Given the description of an element on the screen output the (x, y) to click on. 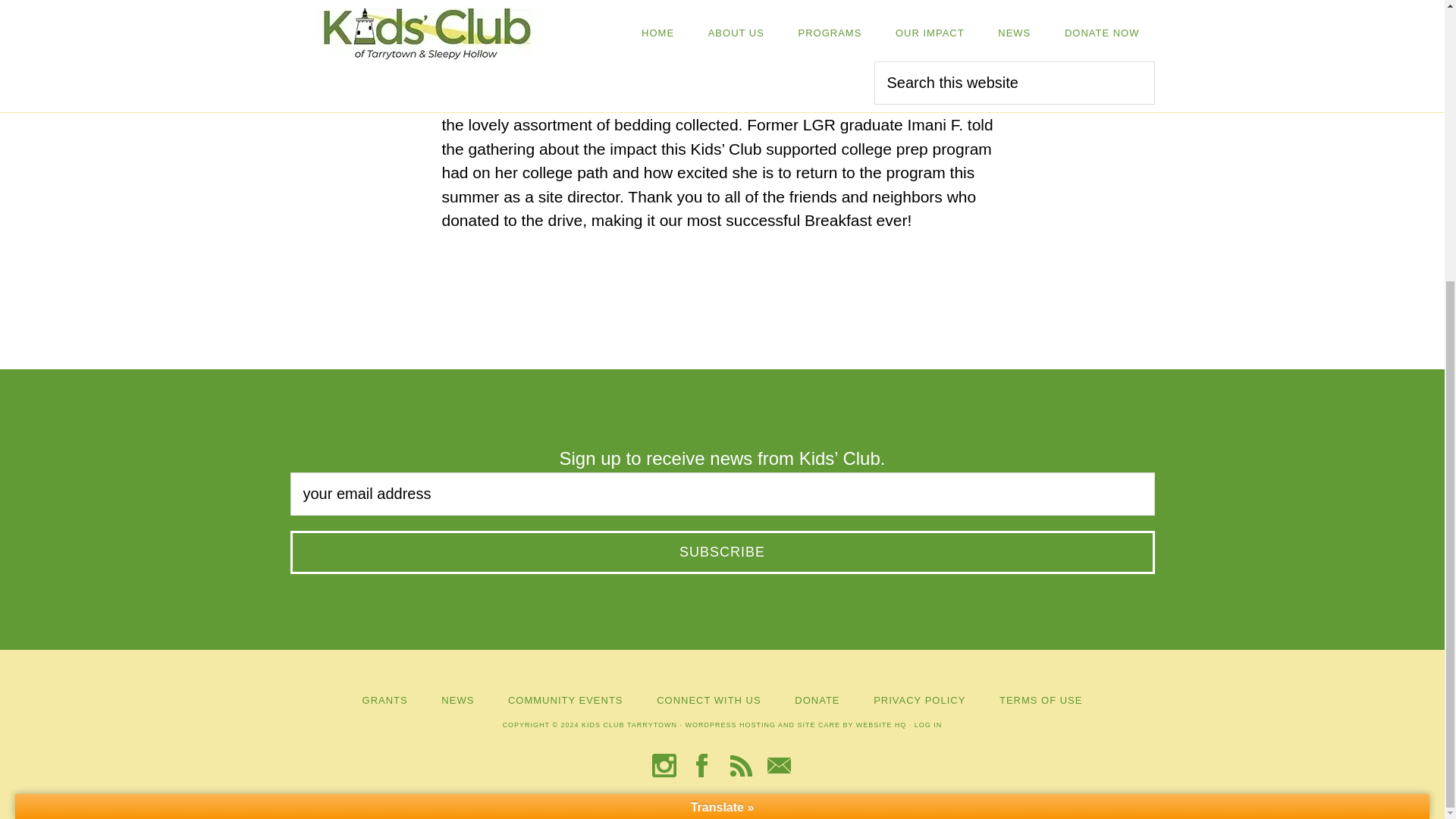
COMMUNITY EVENTS (565, 700)
Subscribe (721, 552)
NEWS (457, 700)
TERMS OF USE (1040, 700)
LOG IN (928, 724)
DONATE (817, 700)
PRIVACY POLICY (919, 700)
CONNECT WITH US (708, 700)
Subscribe (721, 552)
WORDPRESS HOSTING AND SITE CARE BY WEBSITE HQ (794, 724)
